Given the description of an element on the screen output the (x, y) to click on. 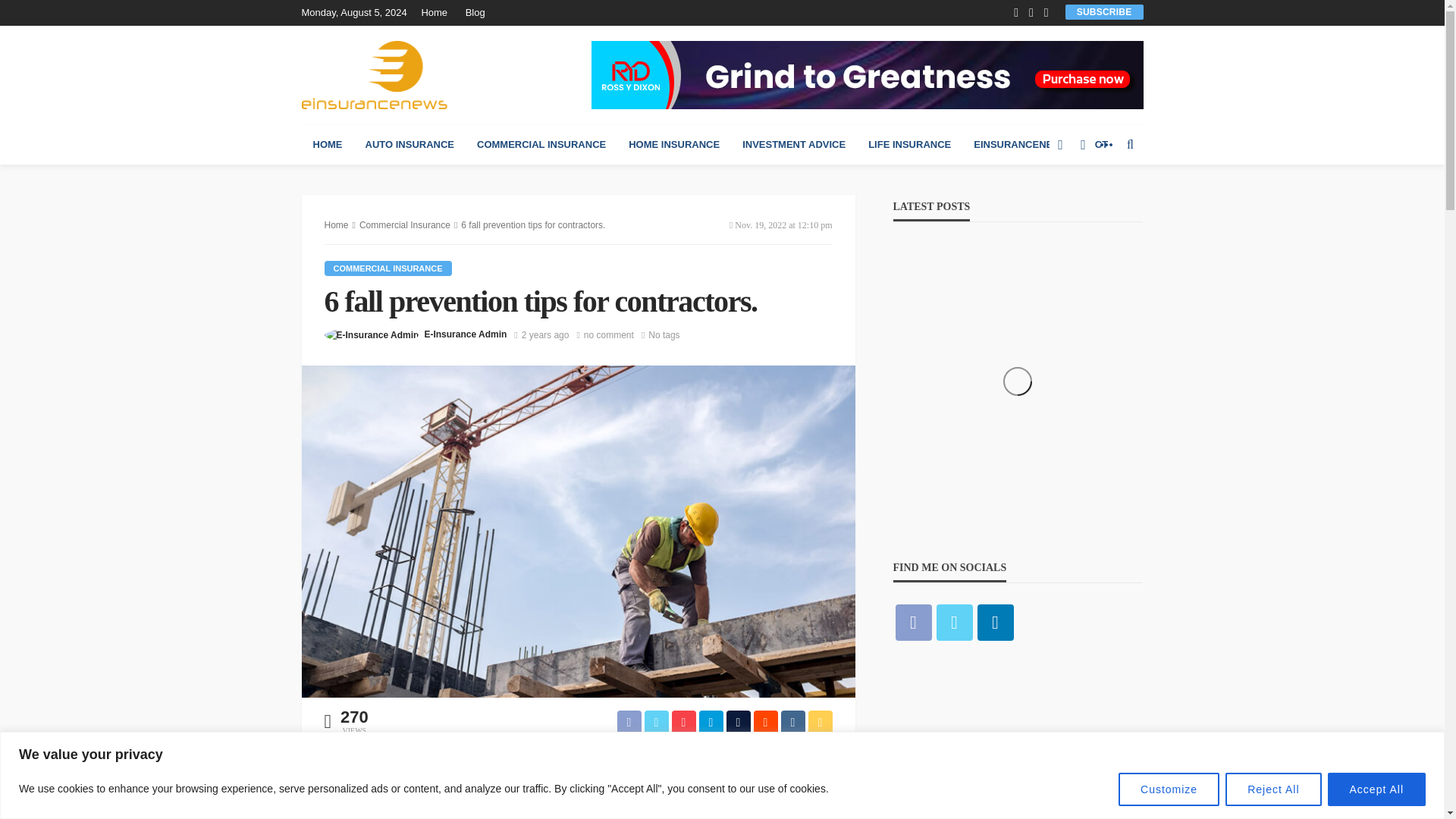
AUTO INSURANCE (409, 144)
LIFE INSURANCE (909, 144)
Home (437, 12)
6 fall prevention tips for contractors. (608, 335)
INVESTMENT ADVICE (793, 144)
SUBSCRIBE (1103, 11)
subscribe (1103, 11)
EINSURANCENEWS DIRECT (1040, 144)
Accept All (1376, 788)
Customize (1169, 788)
HOME INSURANCE (673, 144)
Commercial Insurance (387, 268)
COMMERCIAL INSURANCE (541, 144)
HOME (327, 144)
Reject All (1272, 788)
